Given the description of an element on the screen output the (x, y) to click on. 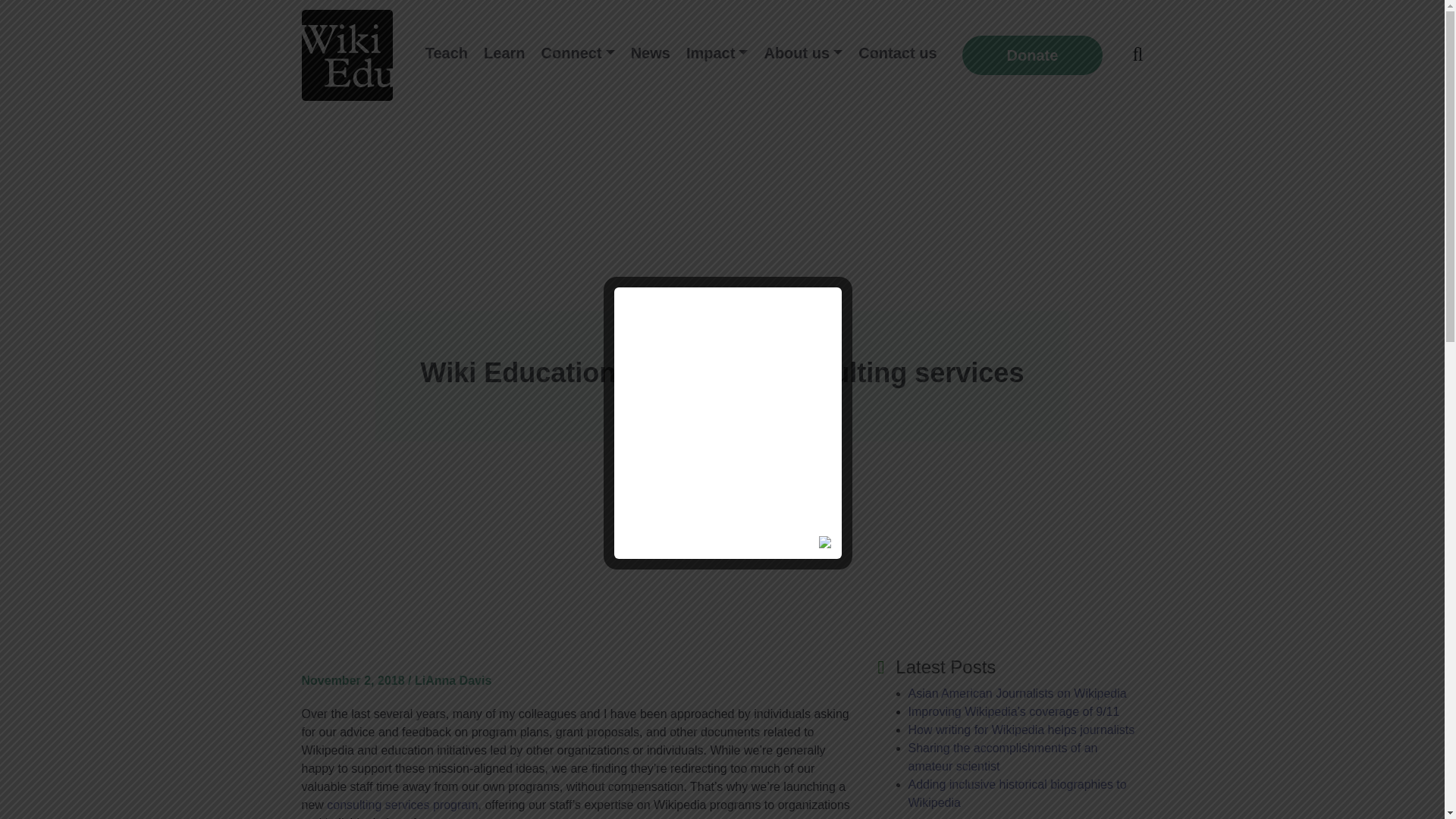
Learn (504, 53)
Contact us (896, 53)
Connect (578, 53)
About us (802, 53)
About us (802, 53)
Impact (716, 53)
Asian American Journalists on Wikipedia (1017, 693)
Learn (504, 53)
Teach (446, 53)
News (650, 53)
